Given the description of an element on the screen output the (x, y) to click on. 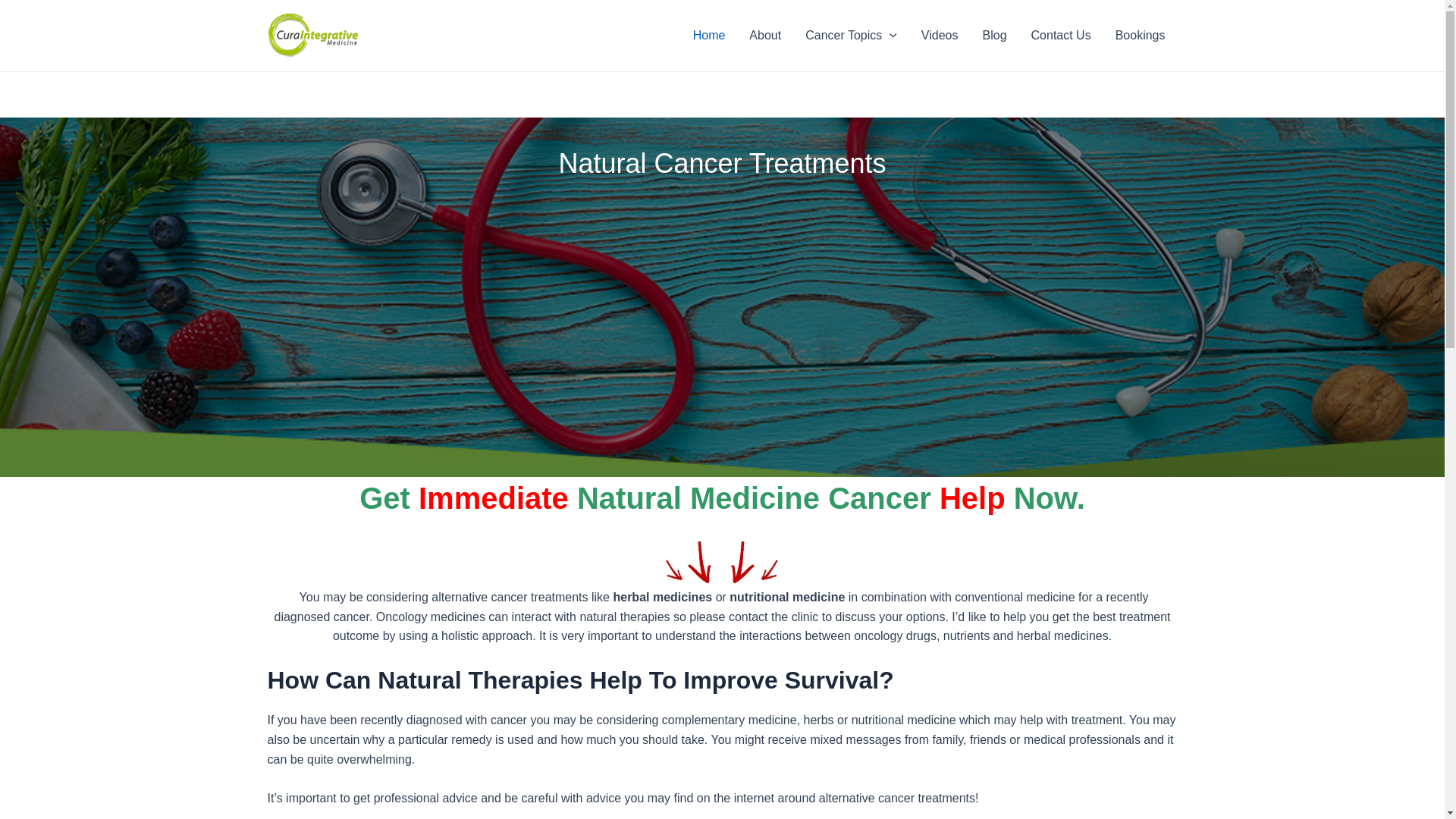
Cancer Topics Element type: text (851, 35)
Blog Element type: text (994, 35)
Bookings Element type: text (1140, 35)
Videos Element type: text (939, 35)
About Element type: text (765, 35)
Home Element type: text (708, 35)
Contact Us Element type: text (1061, 35)
